Given the description of an element on the screen output the (x, y) to click on. 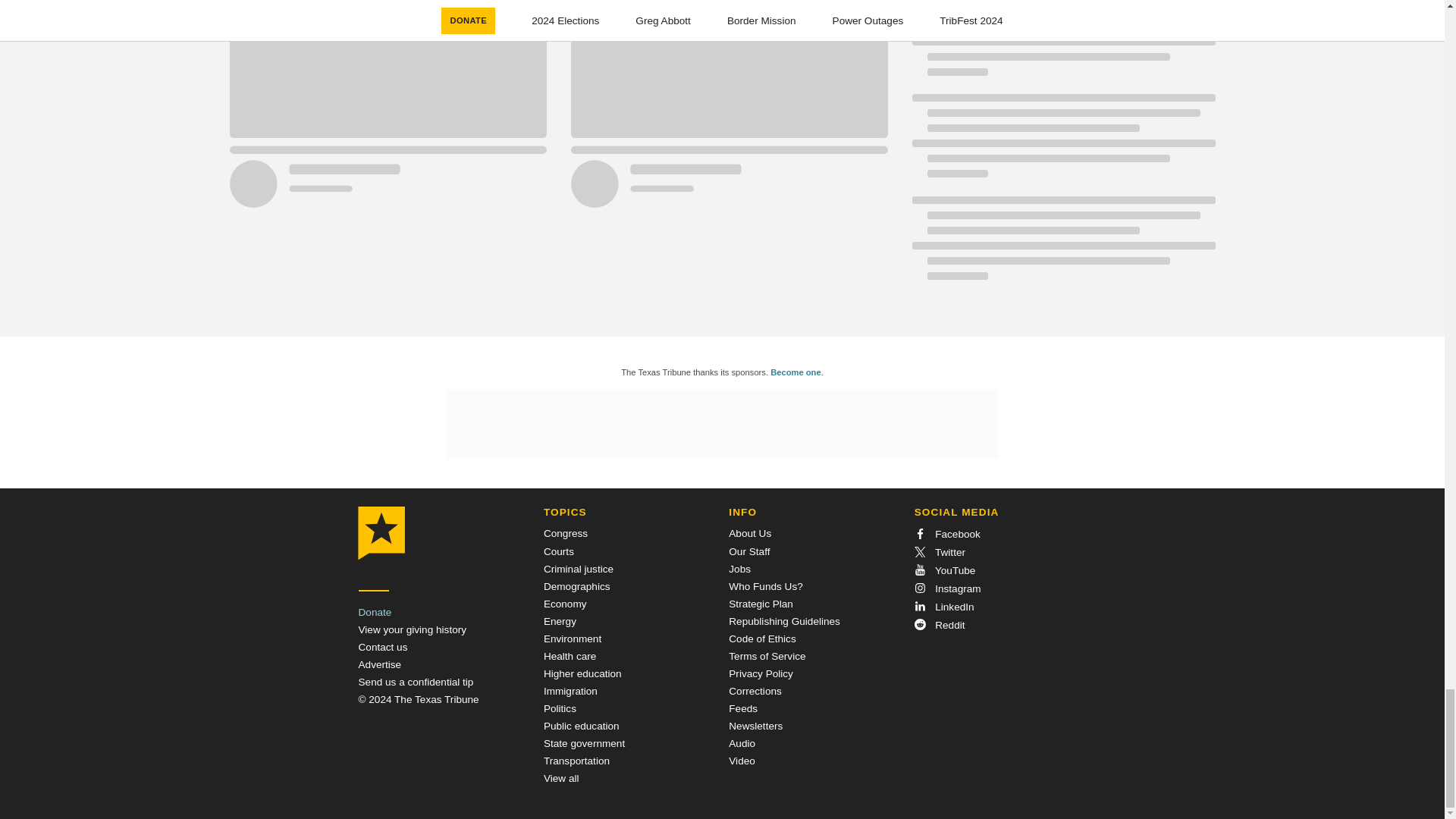
View your giving history (411, 629)
Strategic Plan (761, 603)
Code of Ethics (761, 638)
Advertise (379, 664)
Republishing Guidelines (784, 621)
Send a Tip (415, 681)
Corrections (755, 690)
Privacy Policy (761, 673)
About Us (750, 532)
Who Funds Us? (765, 586)
Donate (374, 612)
Contact us (382, 646)
Terms of Service (767, 655)
